Given the description of an element on the screen output the (x, y) to click on. 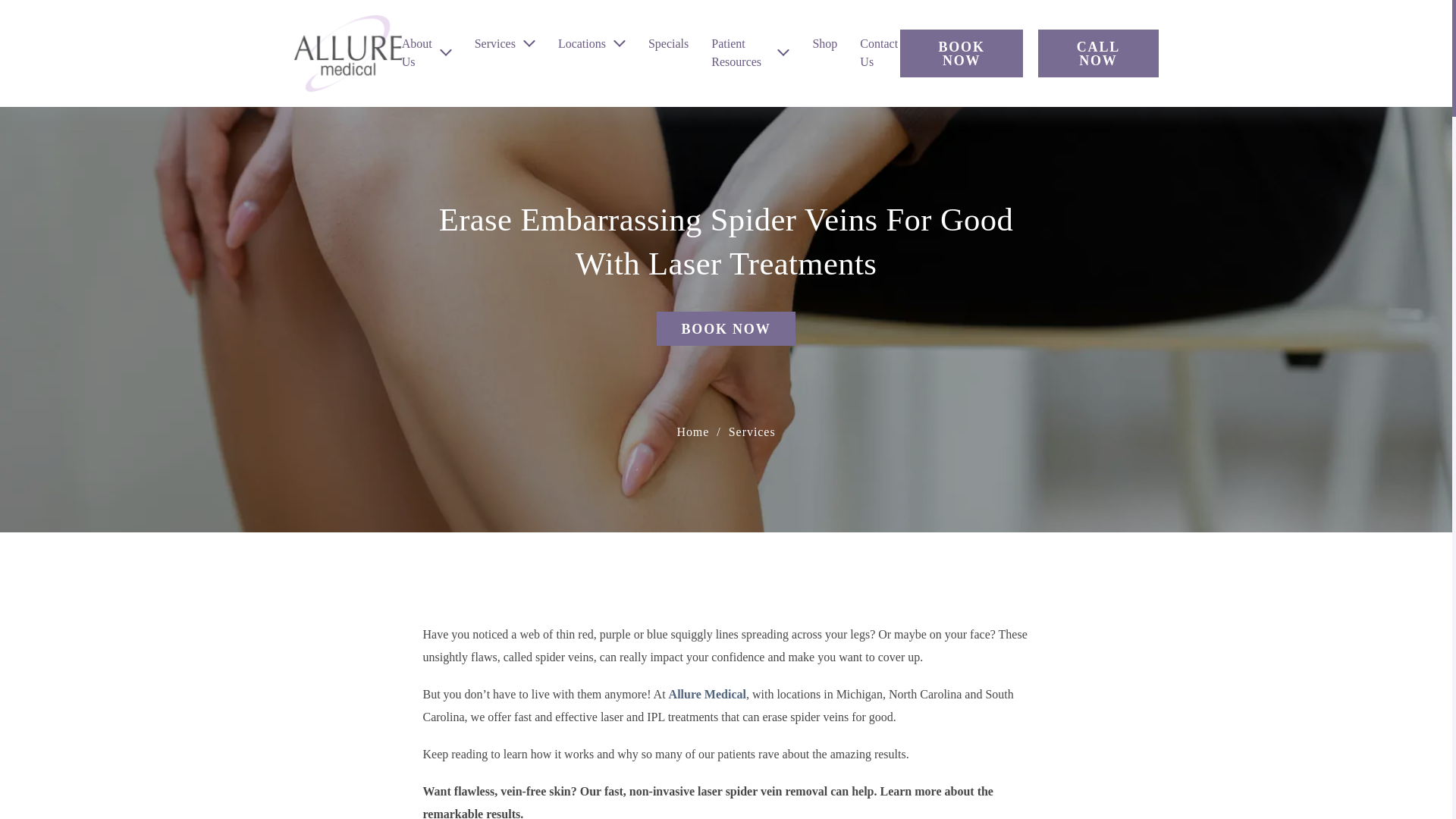
Services (494, 44)
